Given the description of an element on the screen output the (x, y) to click on. 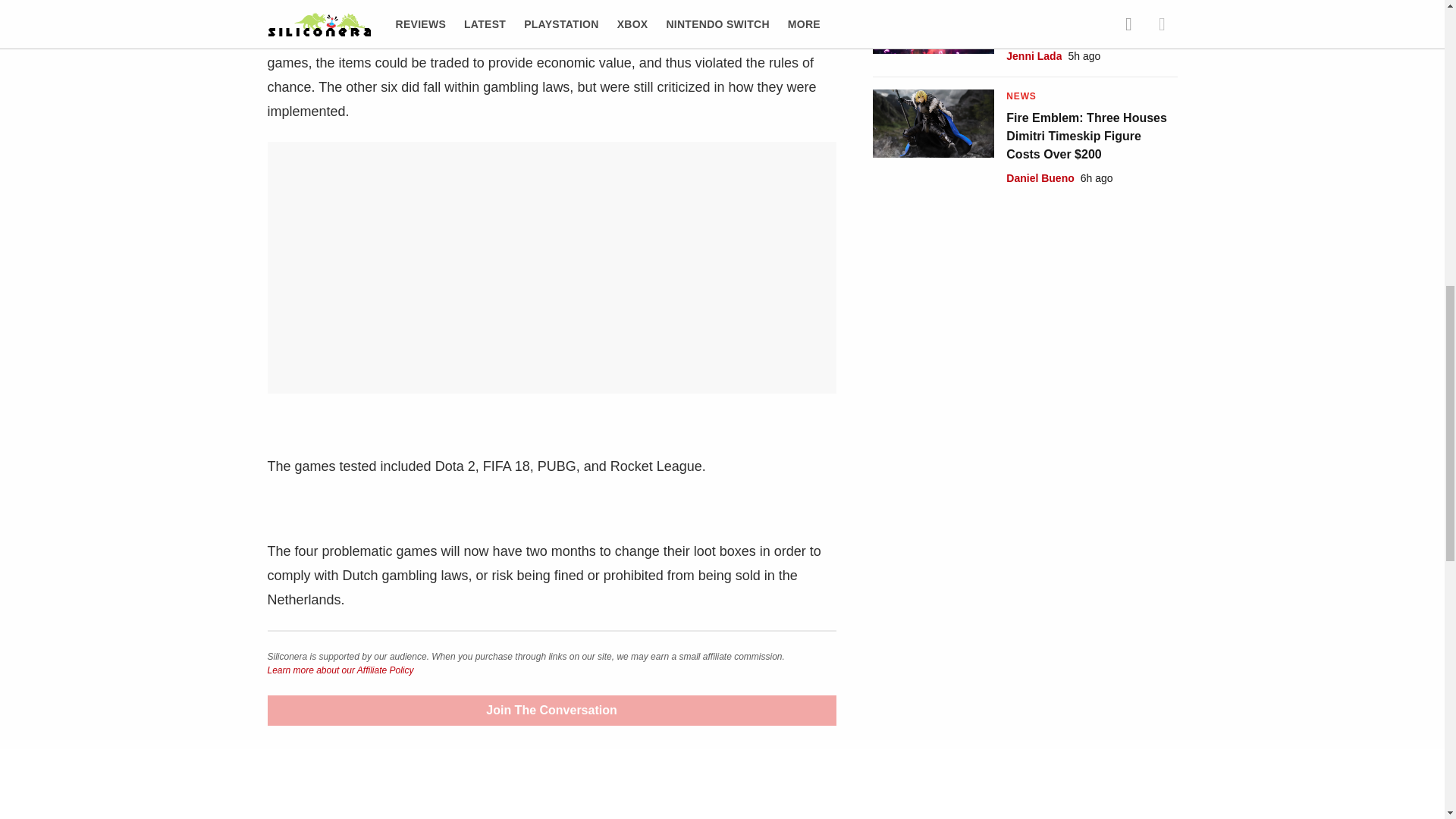
3rd party ad content (1024, 293)
Join The Conversation (550, 710)
3rd party ad content (561, 187)
